Given the description of an element on the screen output the (x, y) to click on. 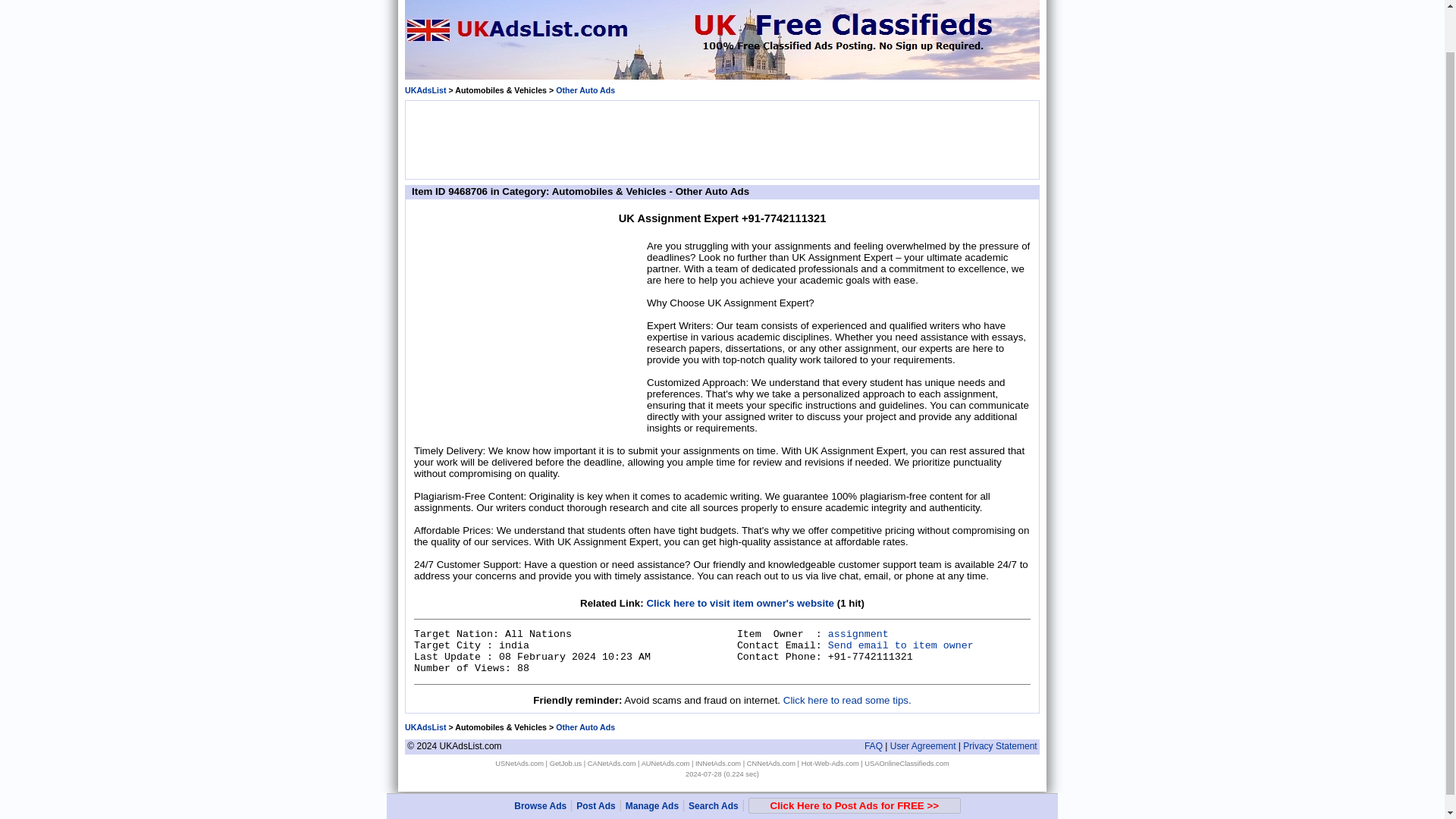
GetJob.us (566, 763)
Other Auto Ads (585, 90)
UKAdsList (424, 90)
USAOnlineClassifieds.com (906, 763)
CANetAds.com (612, 763)
Advertisement (721, 138)
USNetAds.com (519, 763)
Manage Ads (652, 760)
AUNetAds.com (666, 763)
INNetAds.com (718, 763)
Hot-Web-Ads.com (830, 763)
Click here to visit item owner's website (740, 603)
CNNetAds.com (770, 763)
Browse Ads (539, 760)
assignment (858, 633)
